Given the description of an element on the screen output the (x, y) to click on. 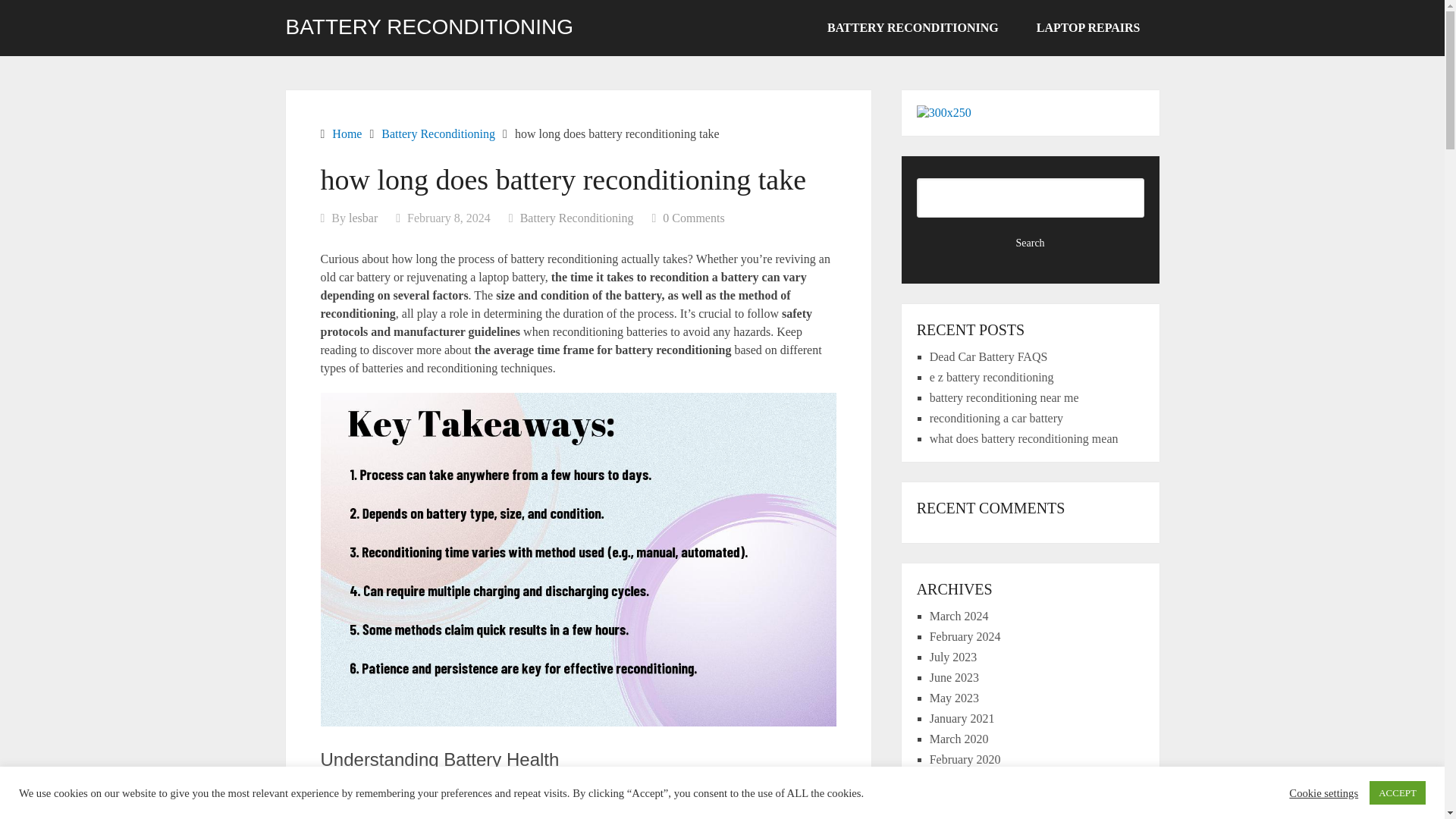
BATTERY RECONDITIONING (429, 26)
March 2024 (959, 615)
Posts by lesbar (363, 217)
e z battery reconditioning (992, 377)
January 2021 (962, 717)
June 2023 (954, 676)
Search (1030, 243)
reconditioning a car battery (996, 418)
December 2019 (968, 779)
July 2023 (953, 656)
